Given the description of an element on the screen output the (x, y) to click on. 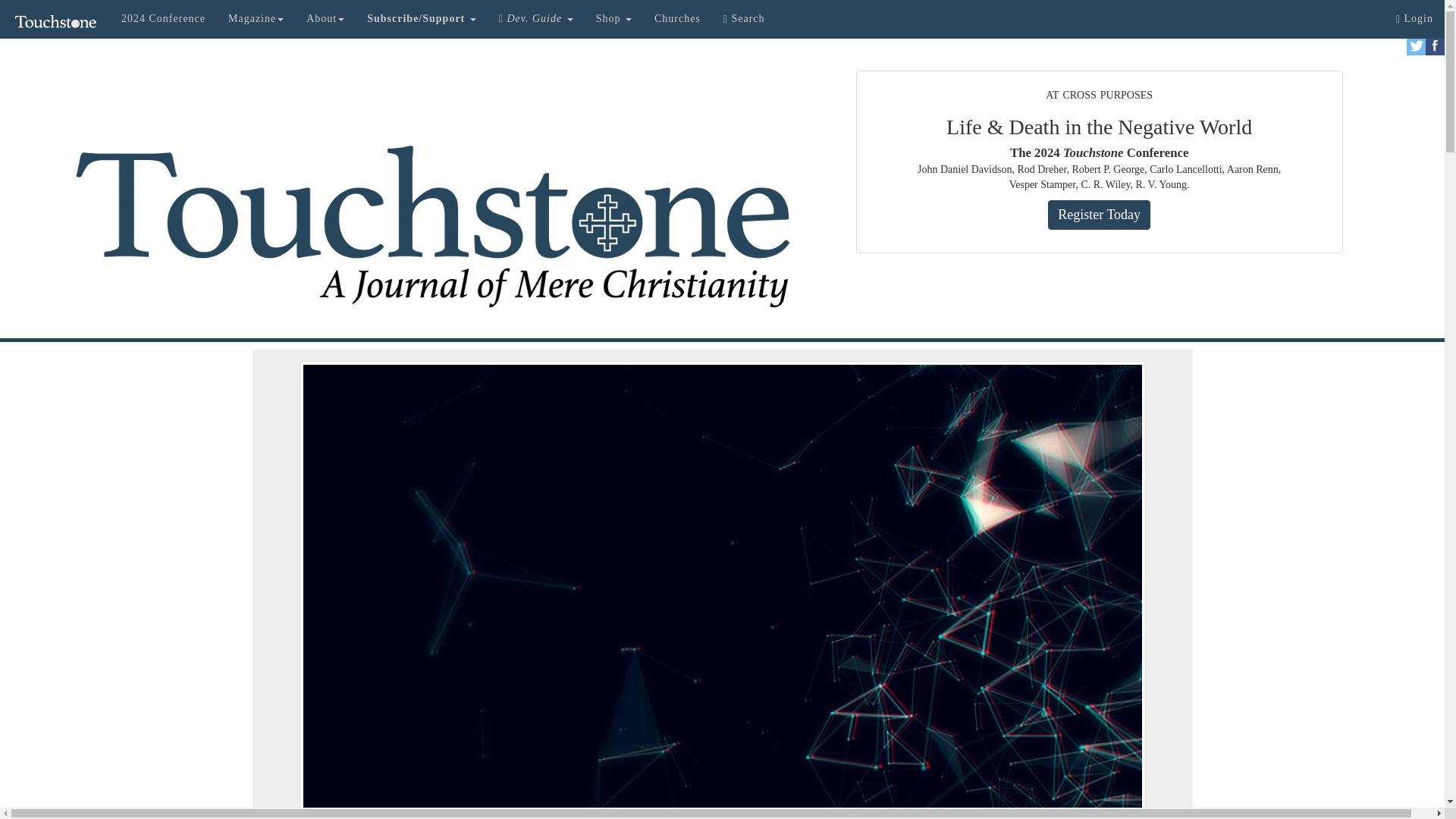
2024 Conference (163, 18)
Login (1414, 18)
Shop (614, 18)
Register Today (1099, 214)
About (325, 18)
Magazine (255, 18)
Dev. Guide (536, 18)
Churches (677, 18)
Search (743, 18)
